Given the description of an element on the screen output the (x, y) to click on. 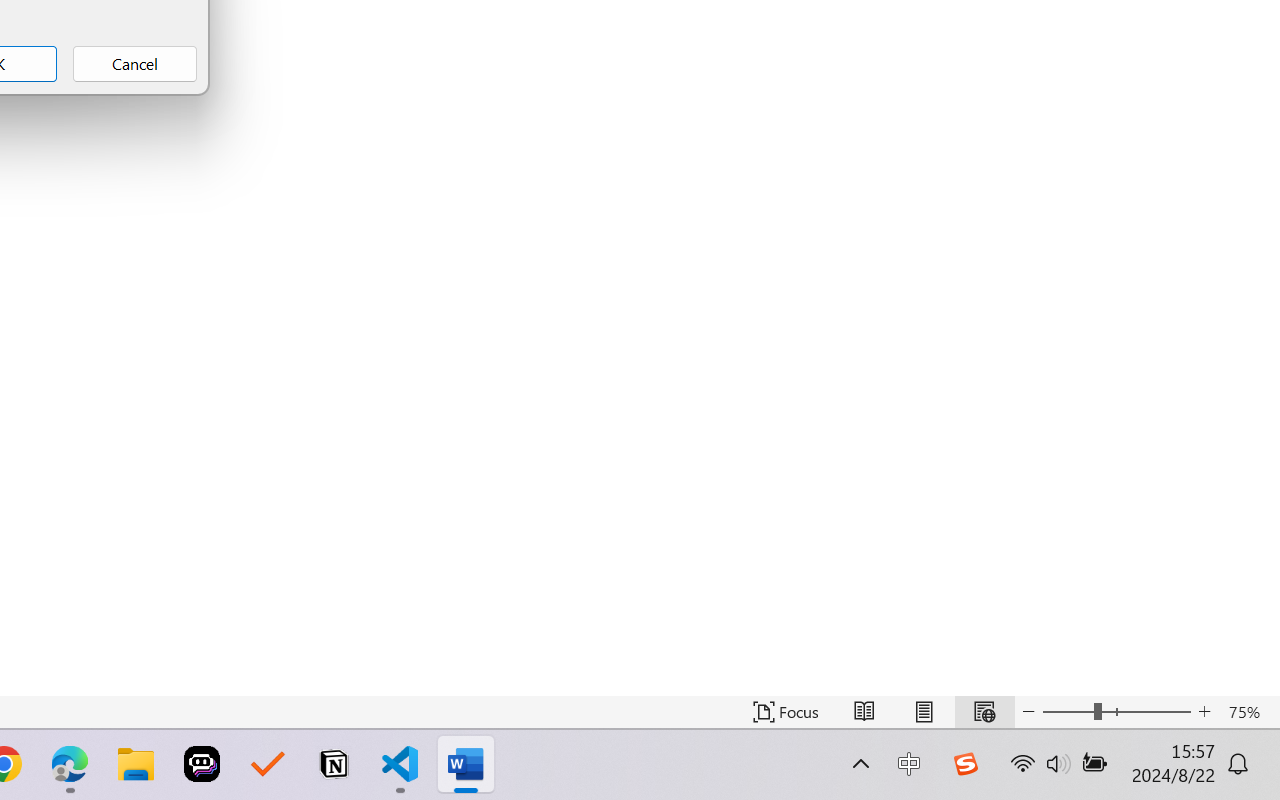
Notion (333, 764)
Poe (201, 764)
Zoom (1116, 712)
Zoom 75% (1249, 712)
Class: Image (965, 764)
Web Layout (984, 712)
